Given the description of an element on the screen output the (x, y) to click on. 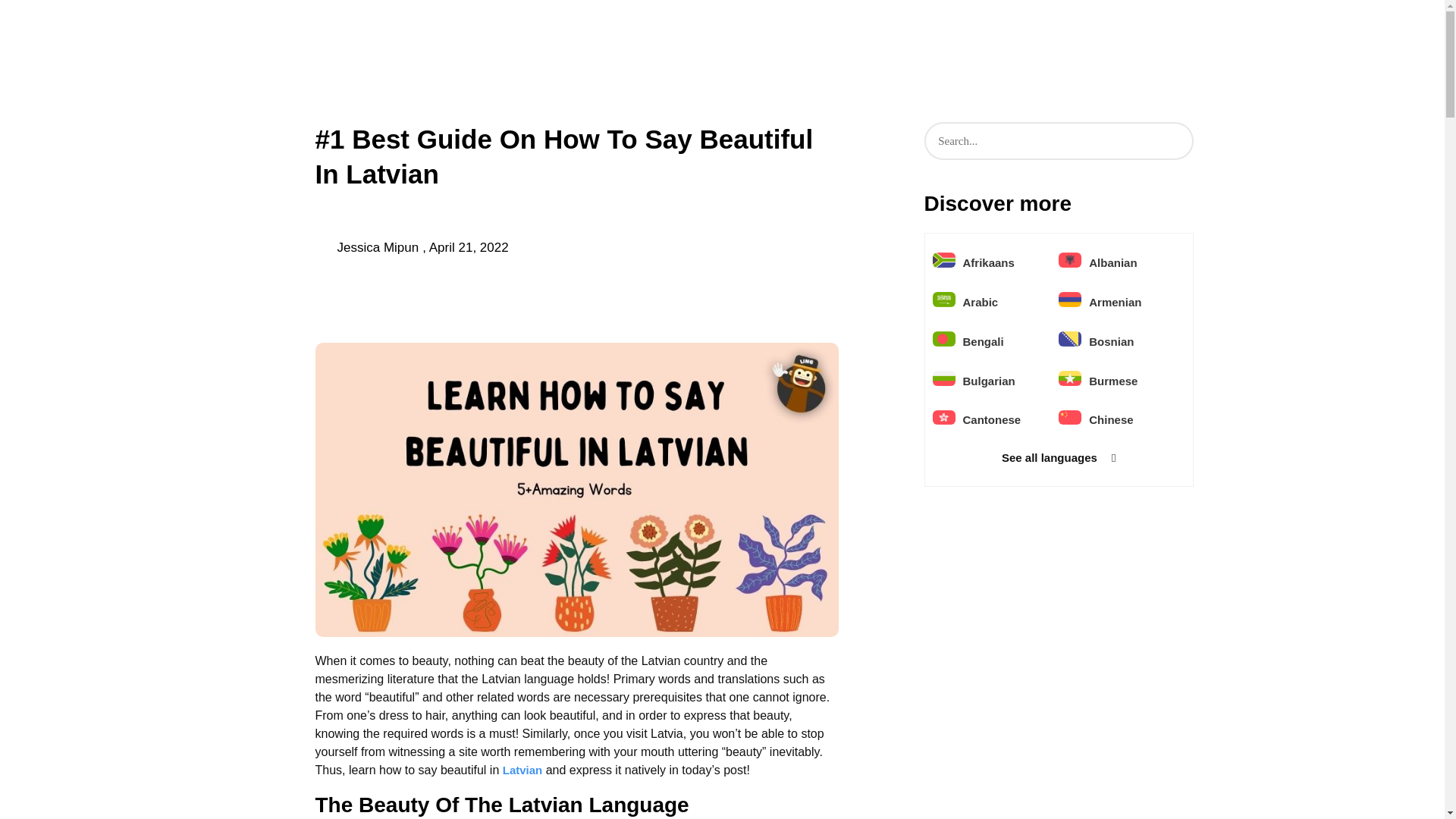
Latvian (522, 769)
